Given the description of an element on the screen output the (x, y) to click on. 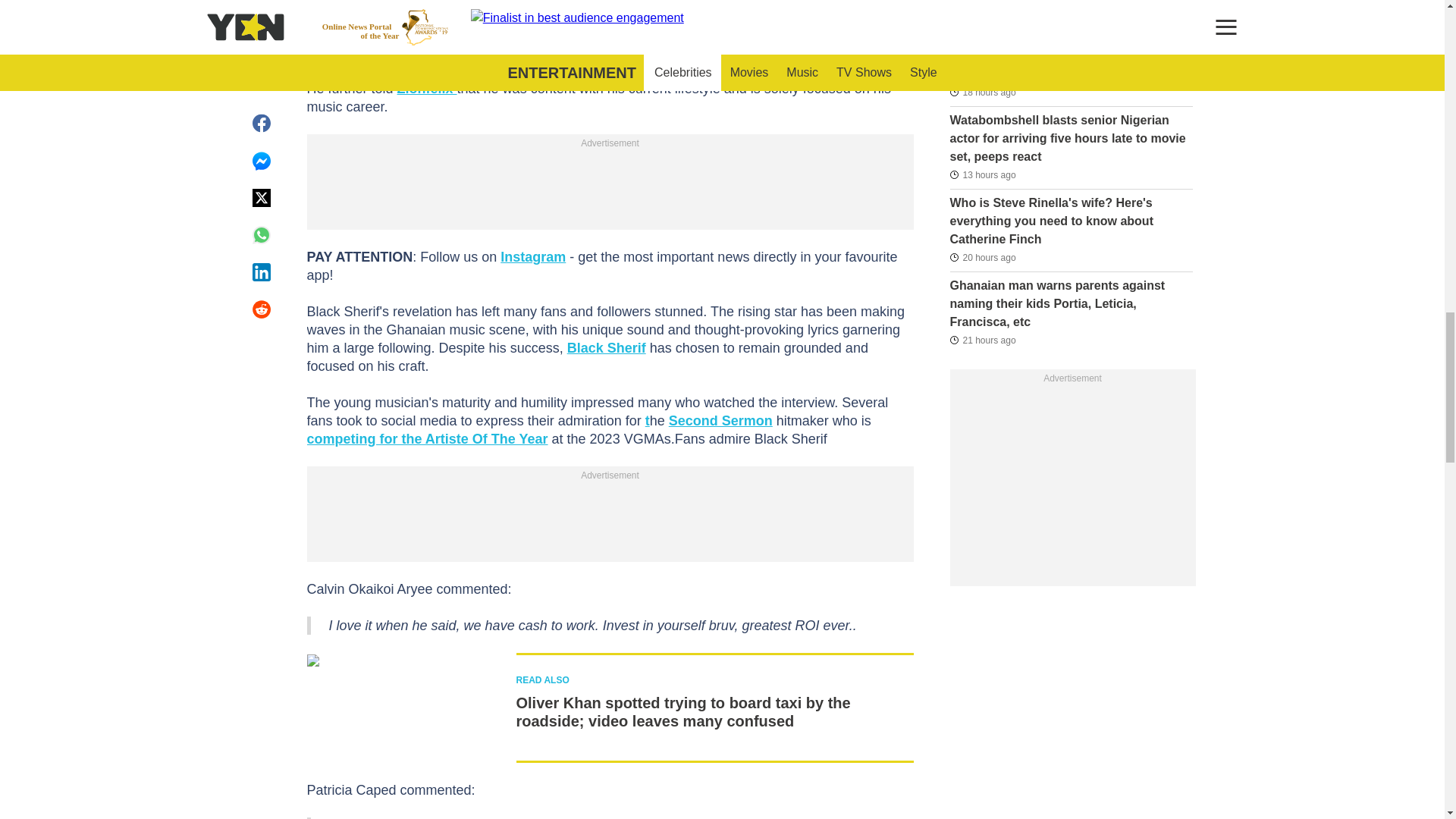
2024-08-12T21:40:35Z (979, 9)
2024-08-12T08:40:45Z (981, 339)
Instagram - Yen (533, 256)
2024-08-12T08:59:18Z (981, 257)
2024-08-12T15:58:17Z (981, 174)
2024-08-12T11:42:37Z (981, 92)
